Given the description of an element on the screen output the (x, y) to click on. 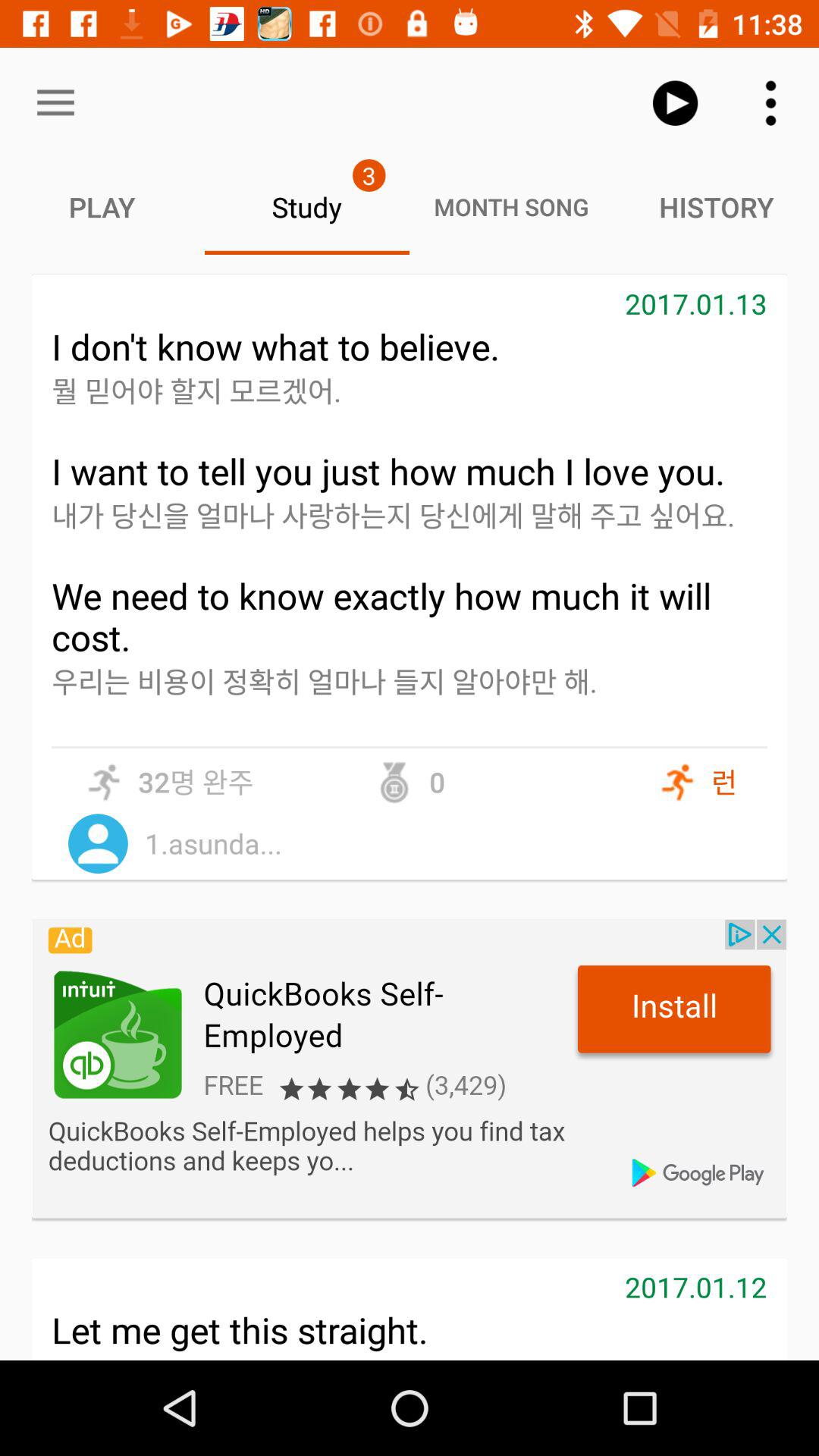
go back advertisement option (409, 1068)
